Given the description of an element on the screen output the (x, y) to click on. 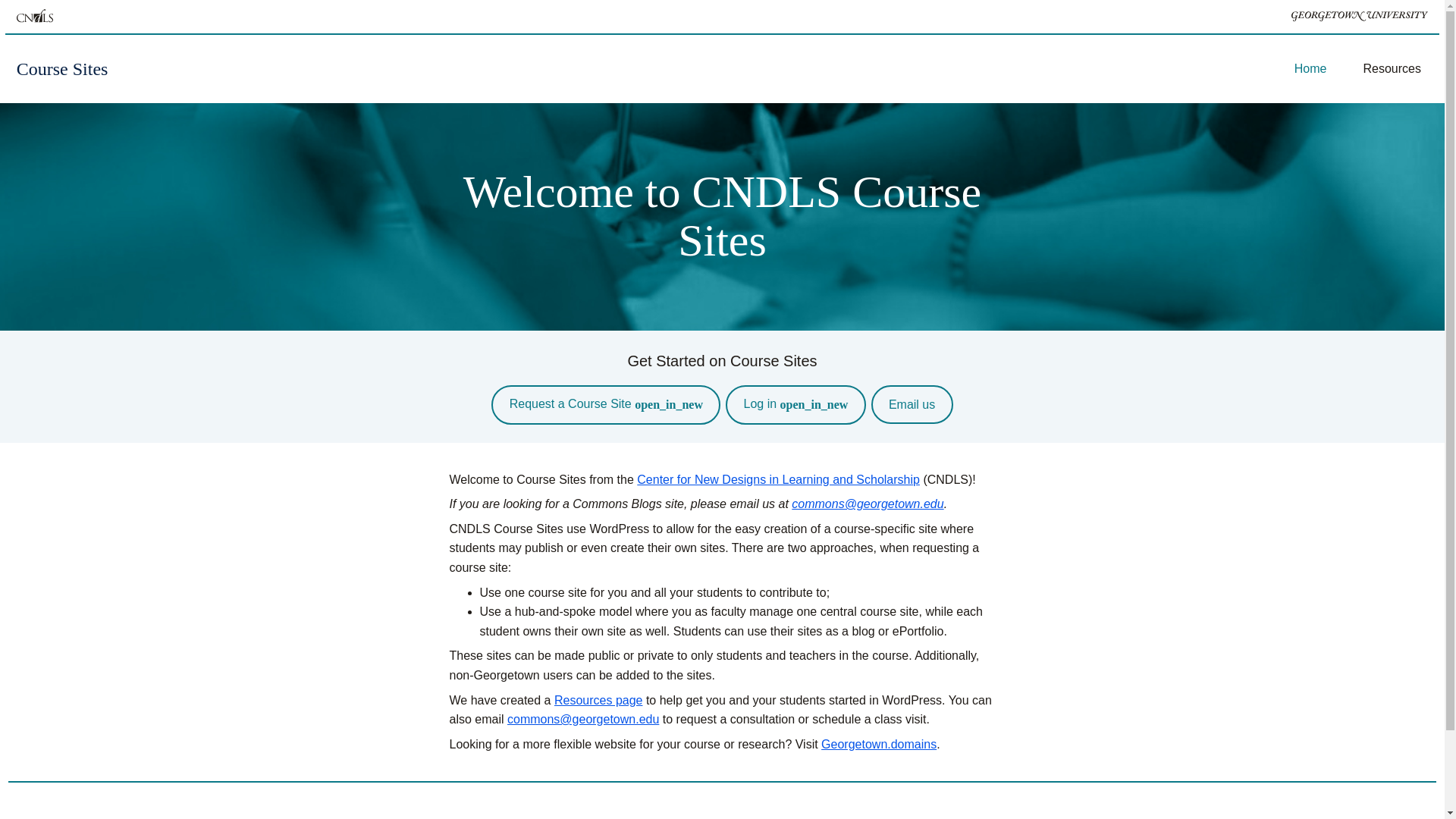
Email us (911, 404)
Center for New Designs in Learning and Scholarship (778, 479)
Georgetown.domains (878, 744)
Home (1310, 68)
Resources page (598, 699)
Resources (1390, 68)
Course Sites (61, 68)
